Given the description of an element on the screen output the (x, y) to click on. 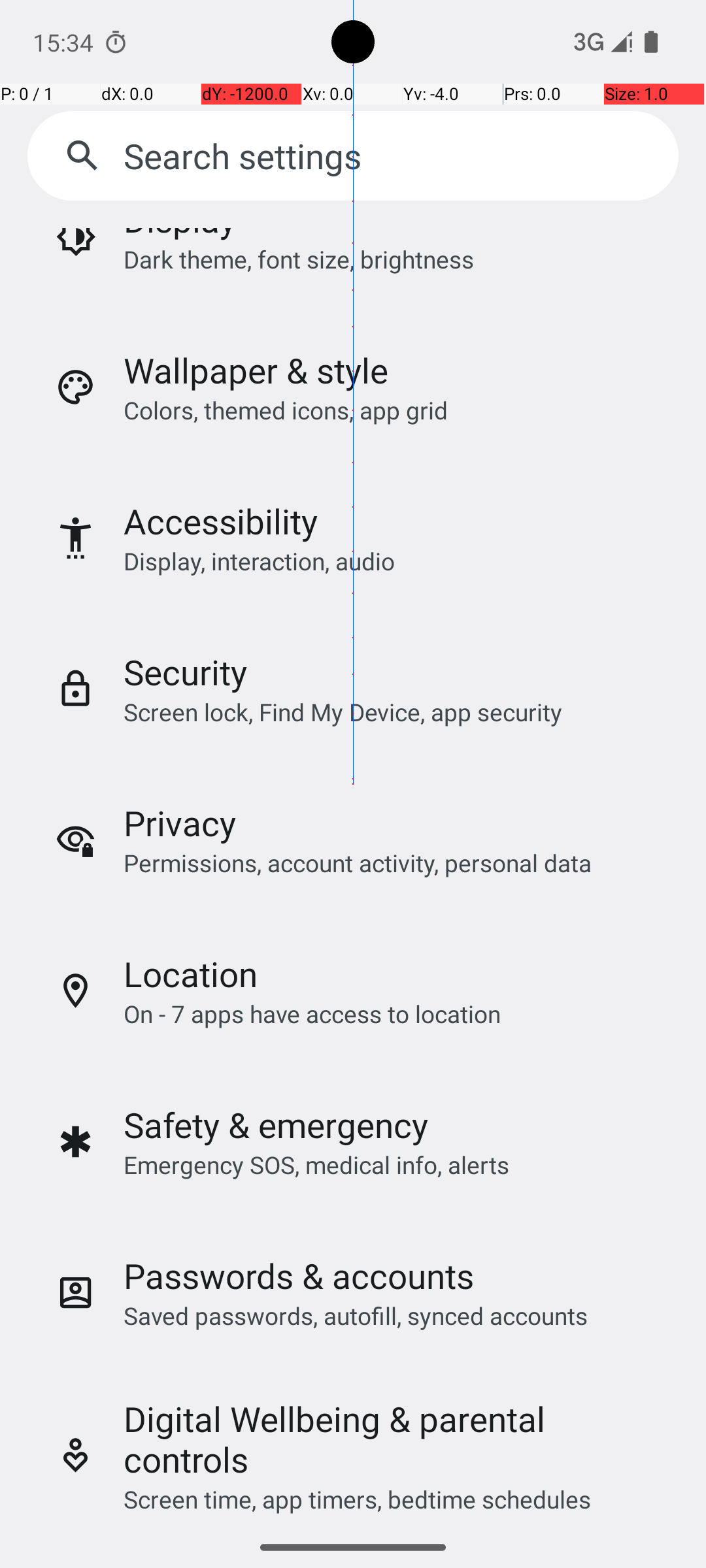
Display Element type: android.widget.TextView (179, 235)
Dark theme, font size, brightness Element type: android.widget.TextView (298, 258)
Wallpaper & style Element type: android.widget.TextView (255, 369)
Colors, themed icons, app grid Element type: android.widget.TextView (285, 409)
Accessibility Element type: android.widget.TextView (220, 520)
Display, interaction, audio Element type: android.widget.TextView (259, 560)
Security Element type: android.widget.TextView (185, 671)
Screen lock, Find My Device, app security Element type: android.widget.TextView (342, 711)
Permissions, account activity, personal data Element type: android.widget.TextView (357, 862)
On - 7 apps have access to location Element type: android.widget.TextView (312, 1013)
Safety & emergency Element type: android.widget.TextView (275, 1124)
Emergency SOS, medical info, alerts Element type: android.widget.TextView (316, 1164)
Passwords & accounts Element type: android.widget.TextView (298, 1275)
Saved passwords, autofill, synced accounts Element type: android.widget.TextView (355, 1315)
Digital Wellbeing & parental controls Element type: android.widget.TextView (393, 1438)
Screen time, app timers, bedtime schedules Element type: android.widget.TextView (356, 1498)
